Given the description of an element on the screen output the (x, y) to click on. 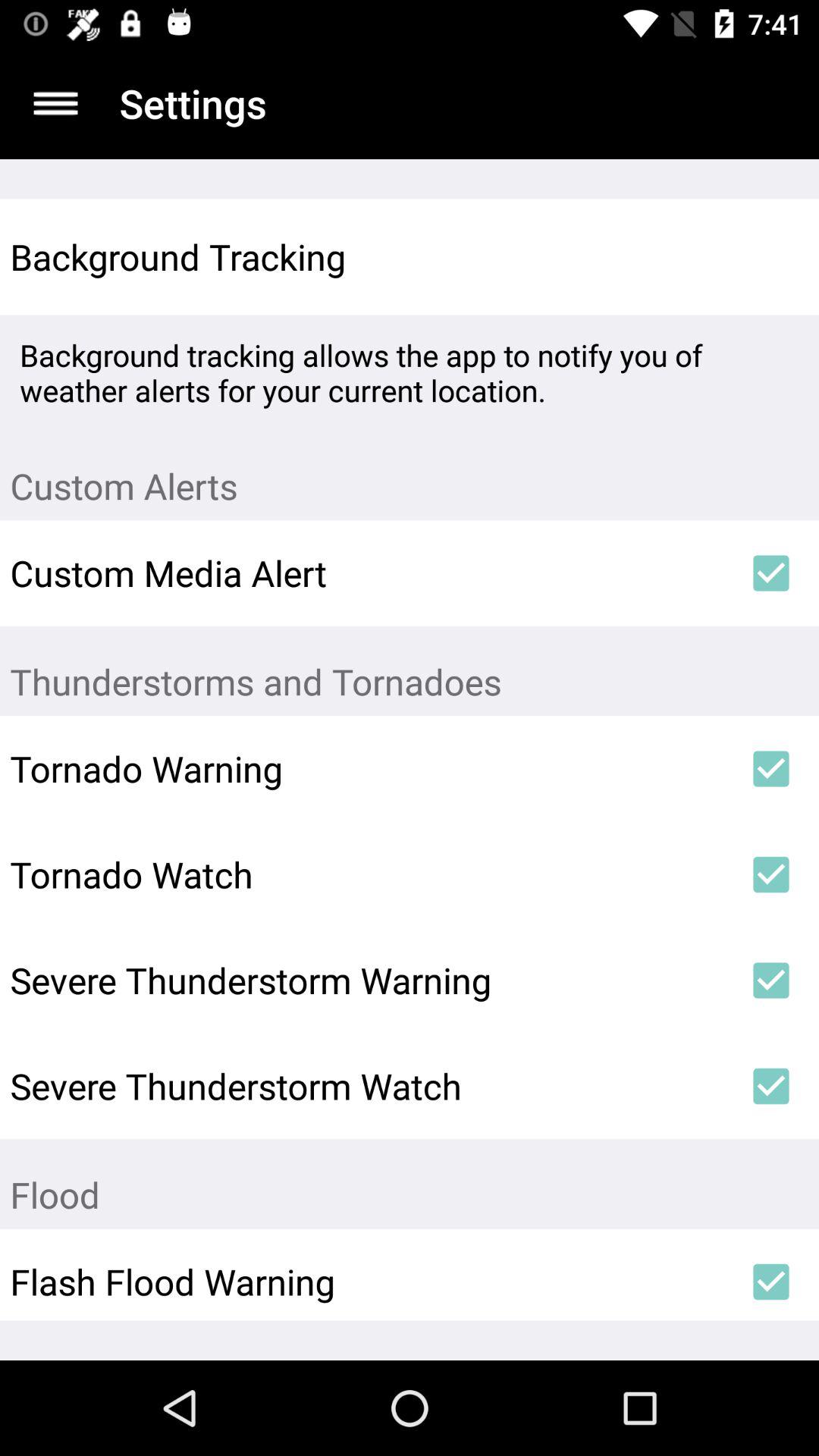
scroll to the tornado warning item (366, 768)
